Given the description of an element on the screen output the (x, y) to click on. 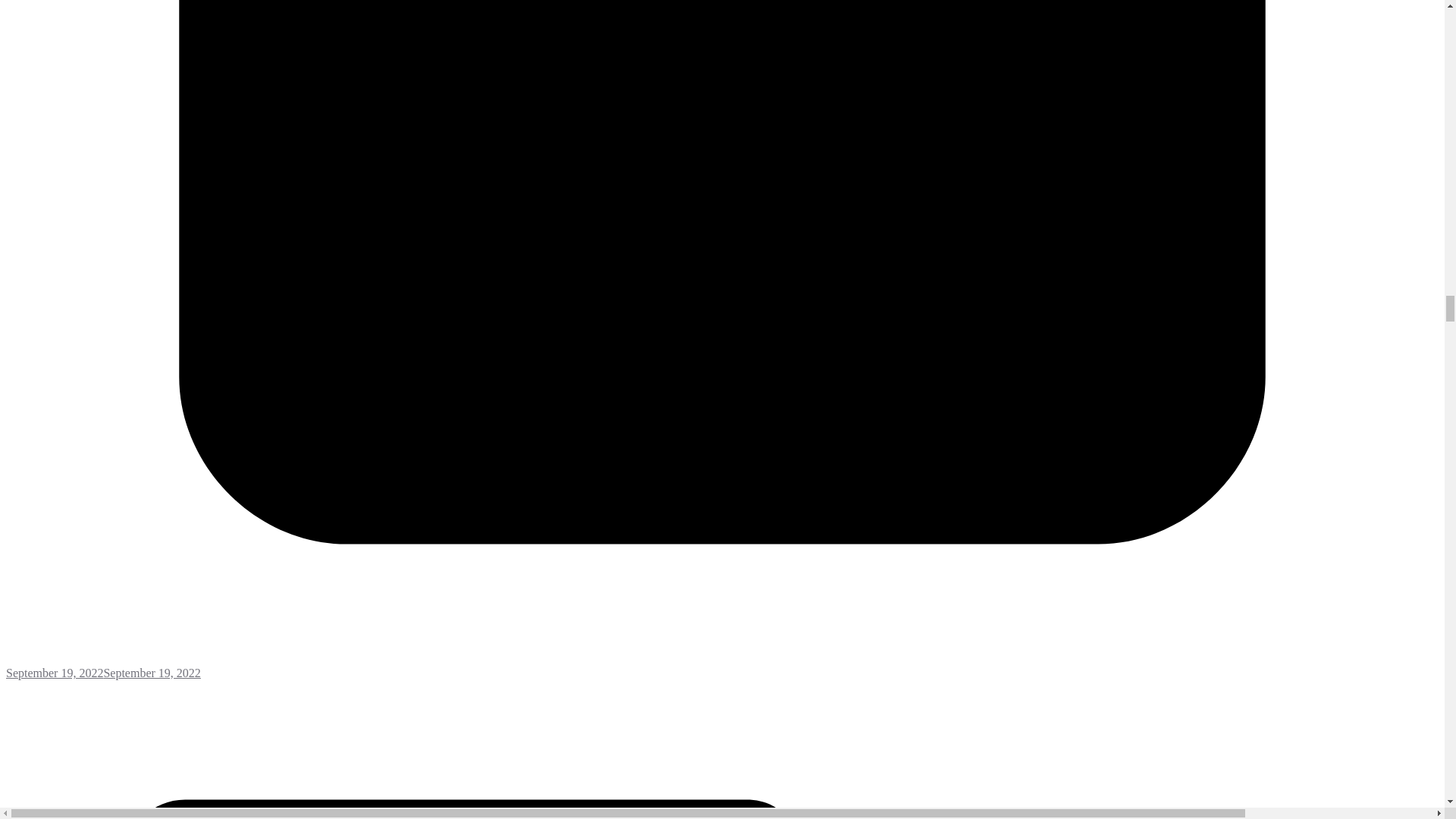
9:31 am (721, 665)
